Given the description of an element on the screen output the (x, y) to click on. 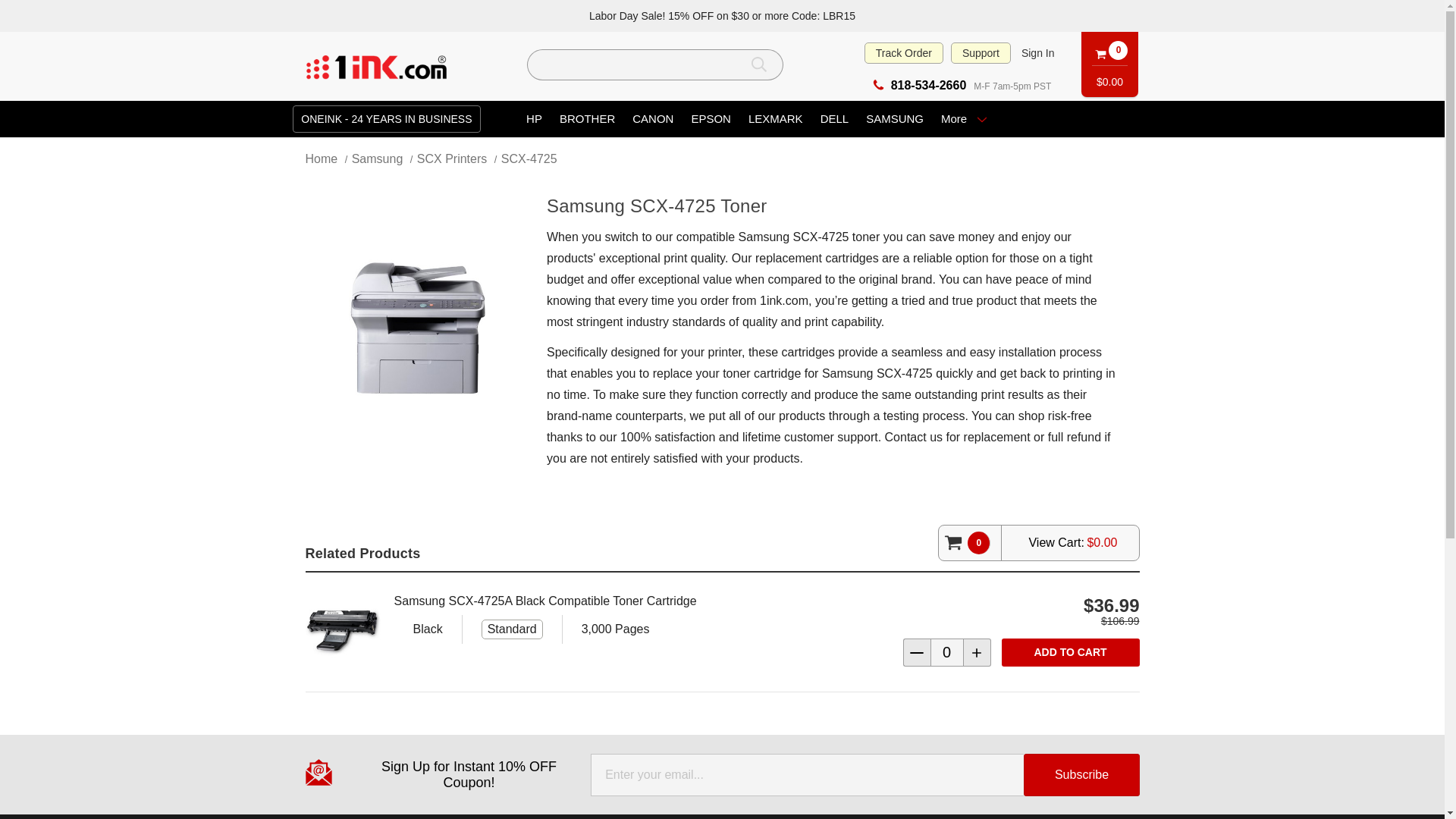
DELL (834, 119)
Support (981, 53)
BROTHER (587, 119)
EPSON (710, 119)
LEXMARK (774, 119)
1ink.com (375, 66)
Sign In (1037, 52)
More (965, 119)
Subscribe (1080, 774)
818-534-2660 (919, 84)
